Given the description of an element on the screen output the (x, y) to click on. 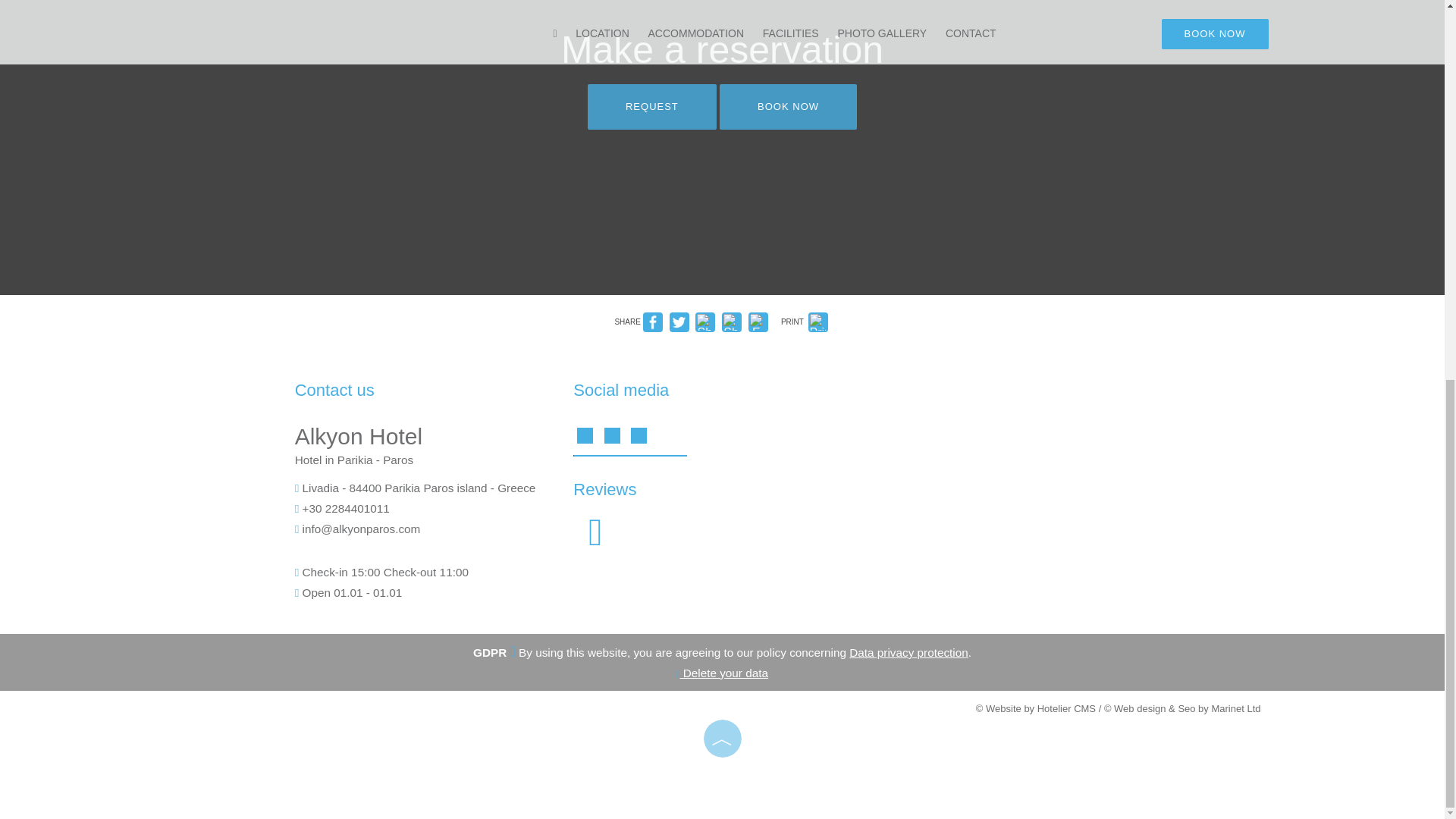
Contact us (334, 389)
Hotel in Parikia - Paros (354, 459)
Data privacy protection (908, 652)
BOOK NOW (788, 106)
Delete your data (722, 672)
PRINT (804, 321)
REQUEST (652, 106)
Reviews (595, 540)
